Given the description of an element on the screen output the (x, y) to click on. 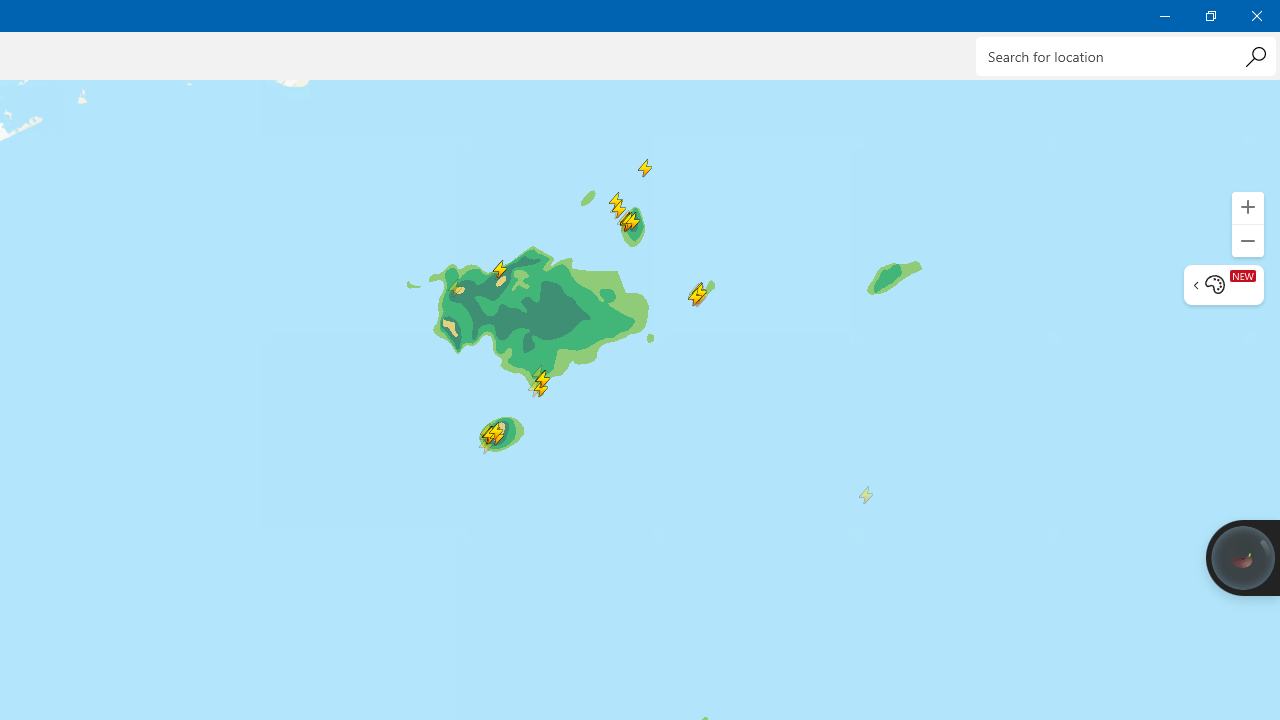
Search (1255, 56)
Minimize Weather (1164, 15)
Restore Weather (1210, 15)
Close Weather (1256, 15)
Search for location (1125, 56)
